Given the description of an element on the screen output the (x, y) to click on. 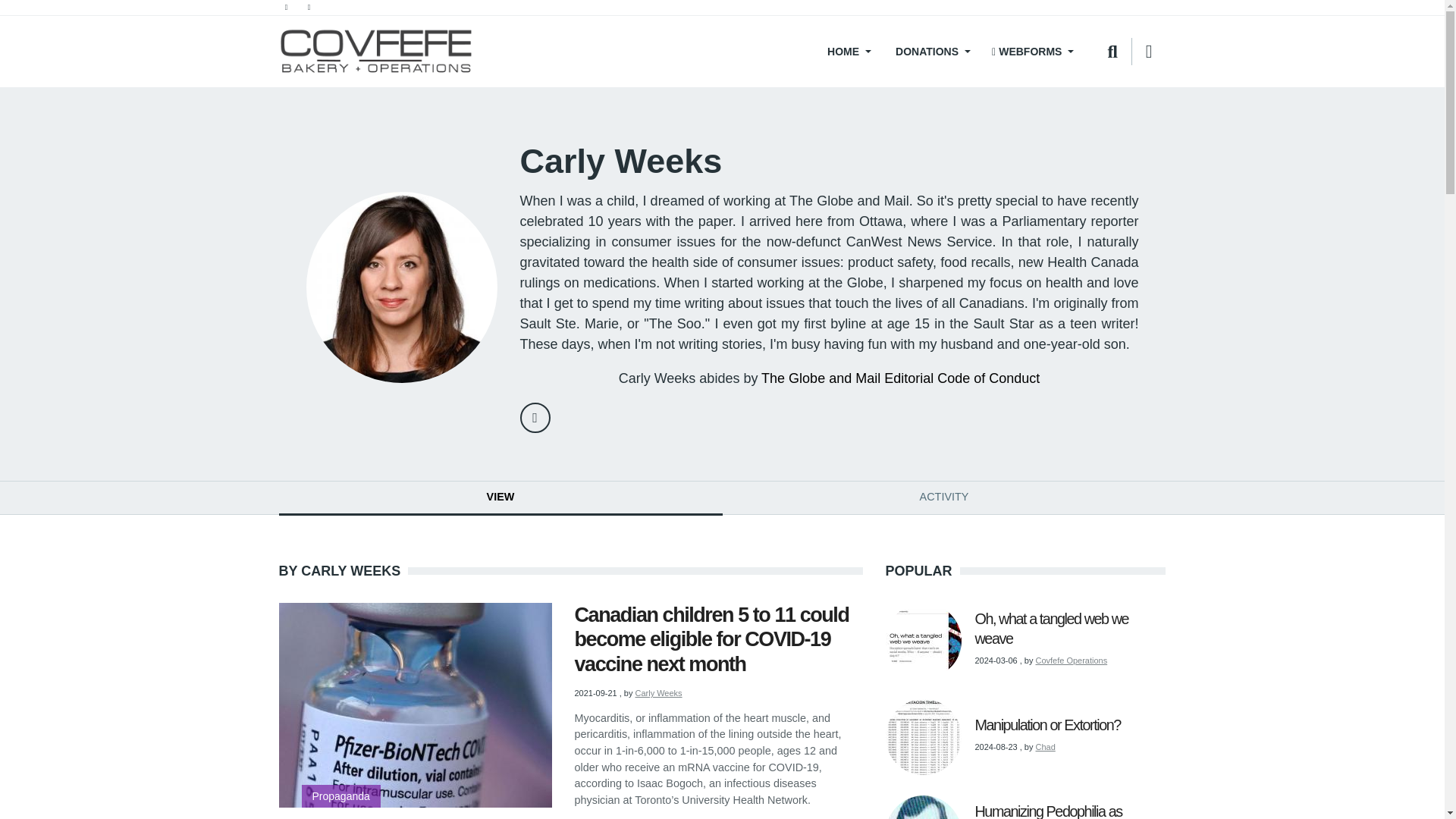
View user profile. (1071, 660)
View user profile. (1045, 746)
DONATIONS (931, 51)
HOME (847, 51)
Pfizer Biontech COVID-1984 Euthanasia for Children (415, 704)
View user profile. (658, 692)
Learn about how and why to support this Covfefe Operation (931, 51)
Home (376, 51)
WEBFORMS (1032, 51)
